Given the description of an element on the screen output the (x, y) to click on. 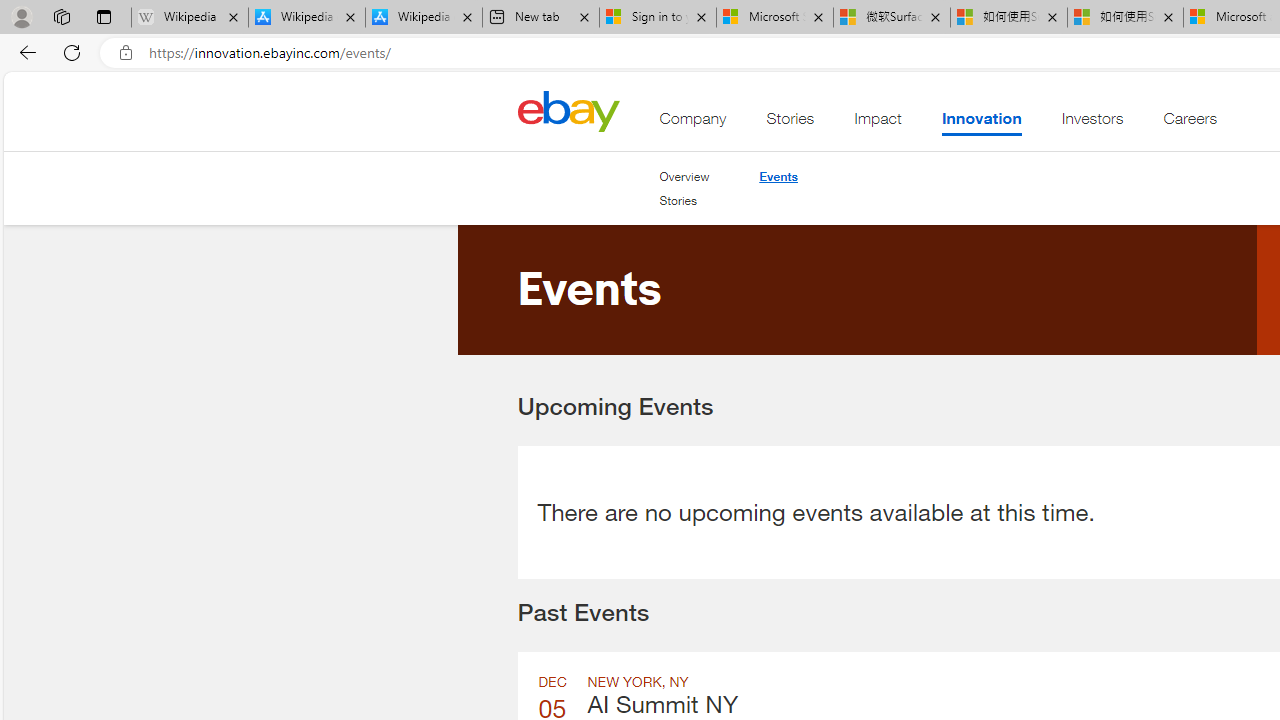
Events (778, 176)
